Given the description of an element on the screen output the (x, y) to click on. 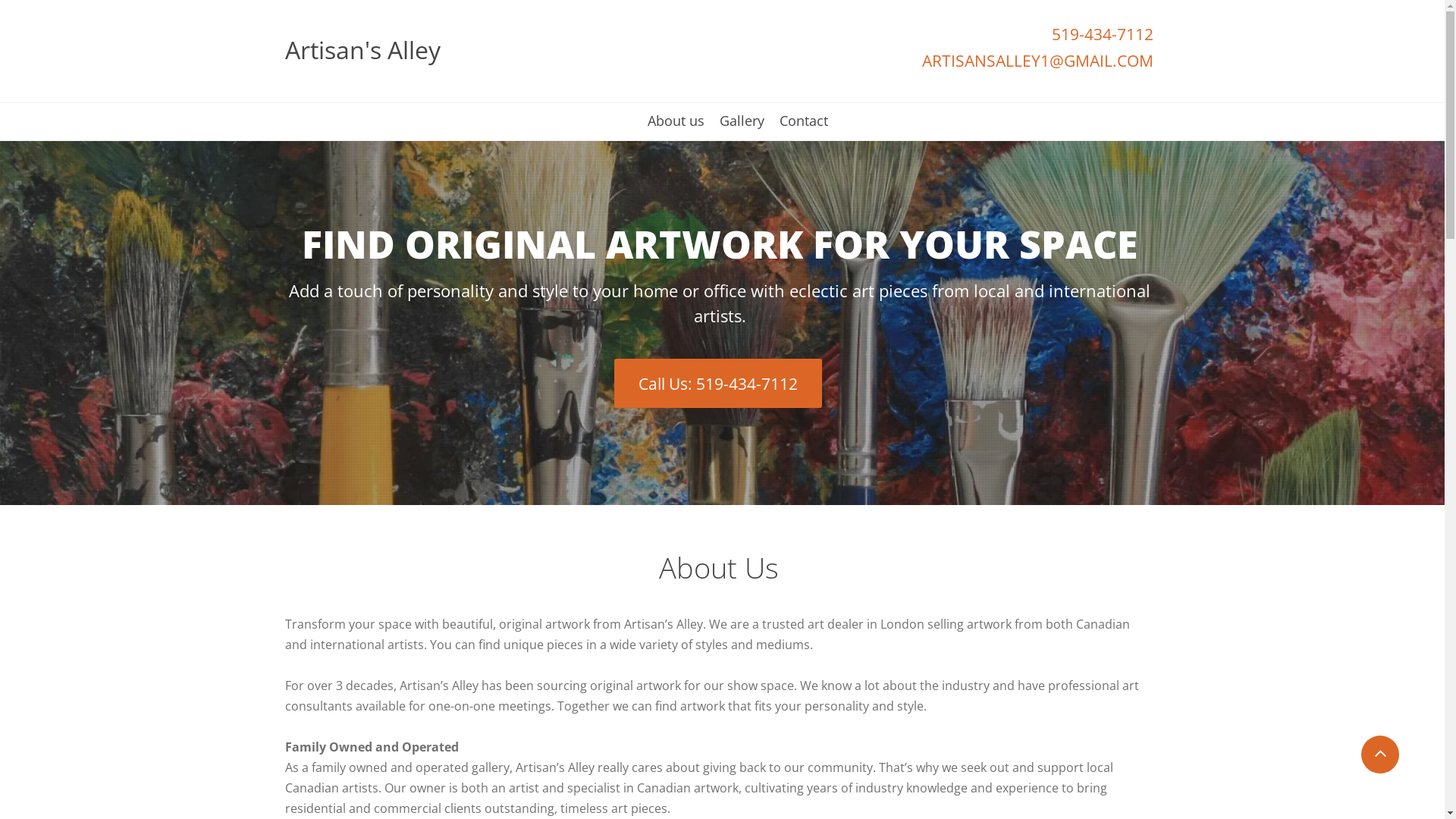
ARTISANSALLEY1@GMAIL.COM Element type: text (1037, 60)
519-434-7112 Element type: text (1101, 34)
Contact Element type: text (803, 126)
Gallery Element type: text (741, 126)
About us Element type: text (676, 126)
Call Us: 519-434-7112 Element type: text (718, 382)
Artisan's Alley Element type: text (362, 50)
